Given the description of an element on the screen output the (x, y) to click on. 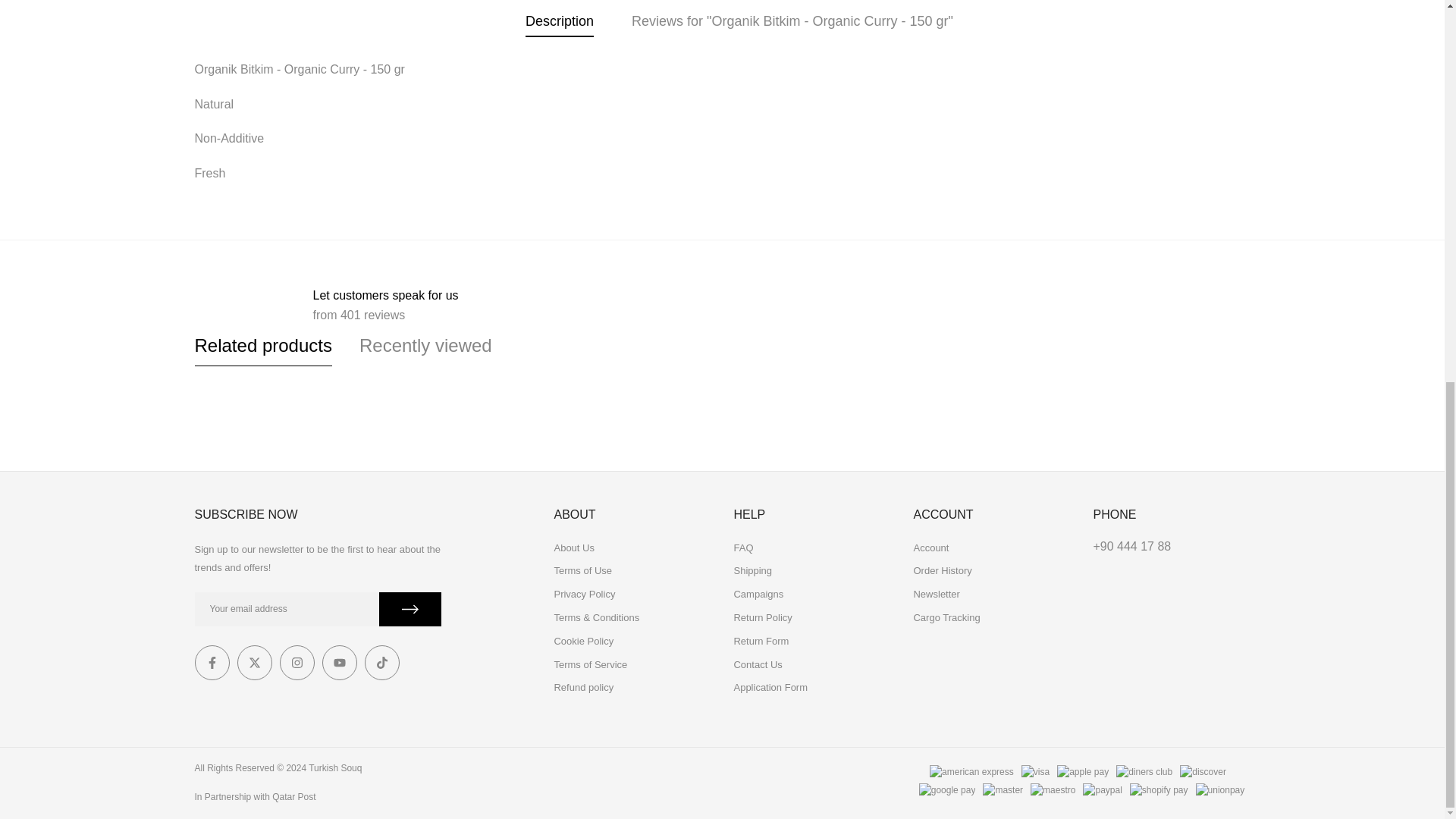
Follow on Tiktok (381, 662)
Follow on Twitter (252, 662)
Follow on YouTube (338, 662)
Follow on Facebook (210, 662)
Follow on Instagram (296, 662)
